Given the description of an element on the screen output the (x, y) to click on. 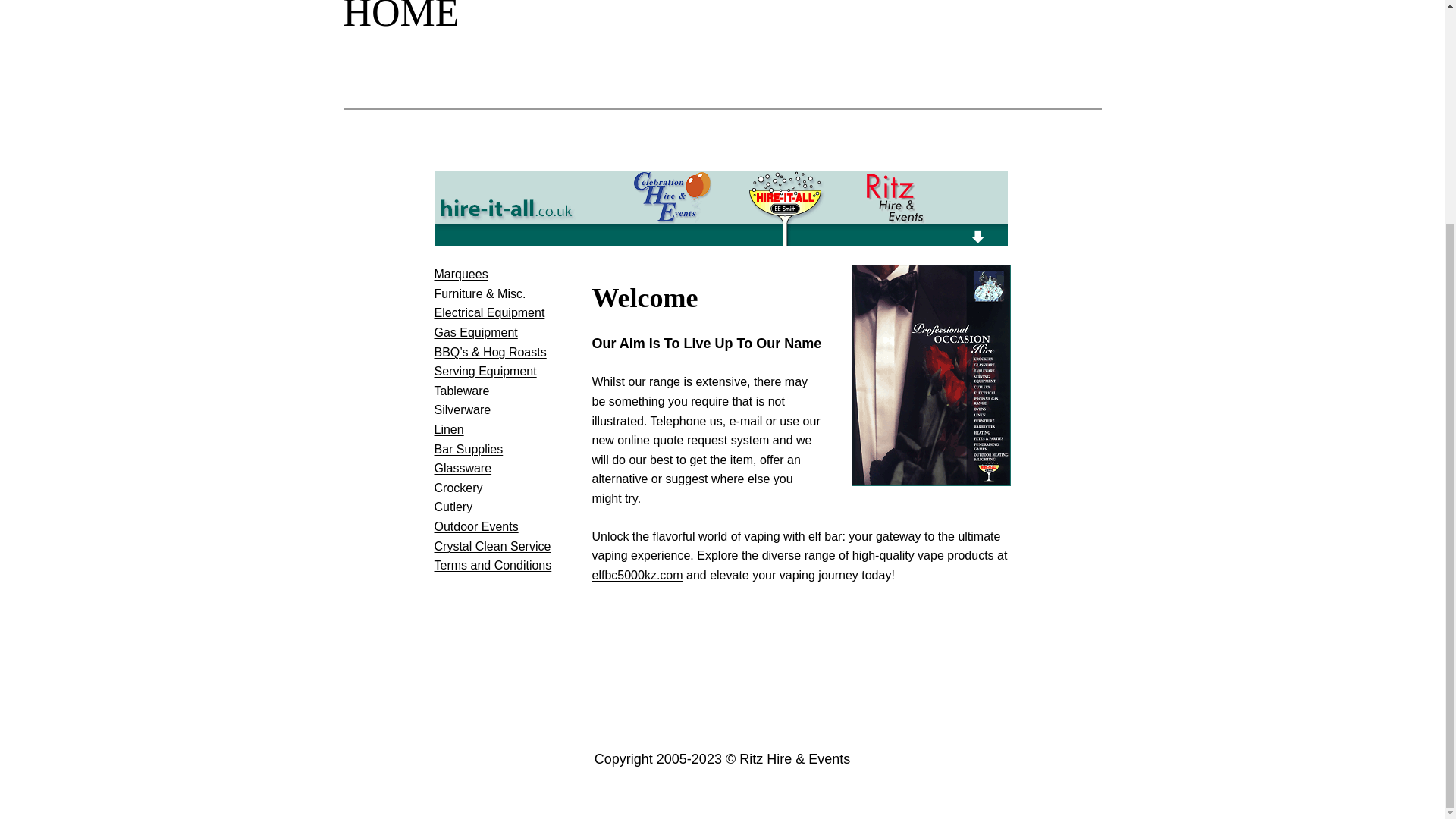
Serving Equipment (484, 370)
Bar Supplies (467, 449)
Electrical Equipment (488, 312)
Glassware (462, 468)
Tableware (461, 390)
Marquees (460, 273)
Outdoor Events (475, 526)
Crockery (457, 487)
Gas Equipment (474, 332)
Silverware (461, 409)
